Given the description of an element on the screen output the (x, y) to click on. 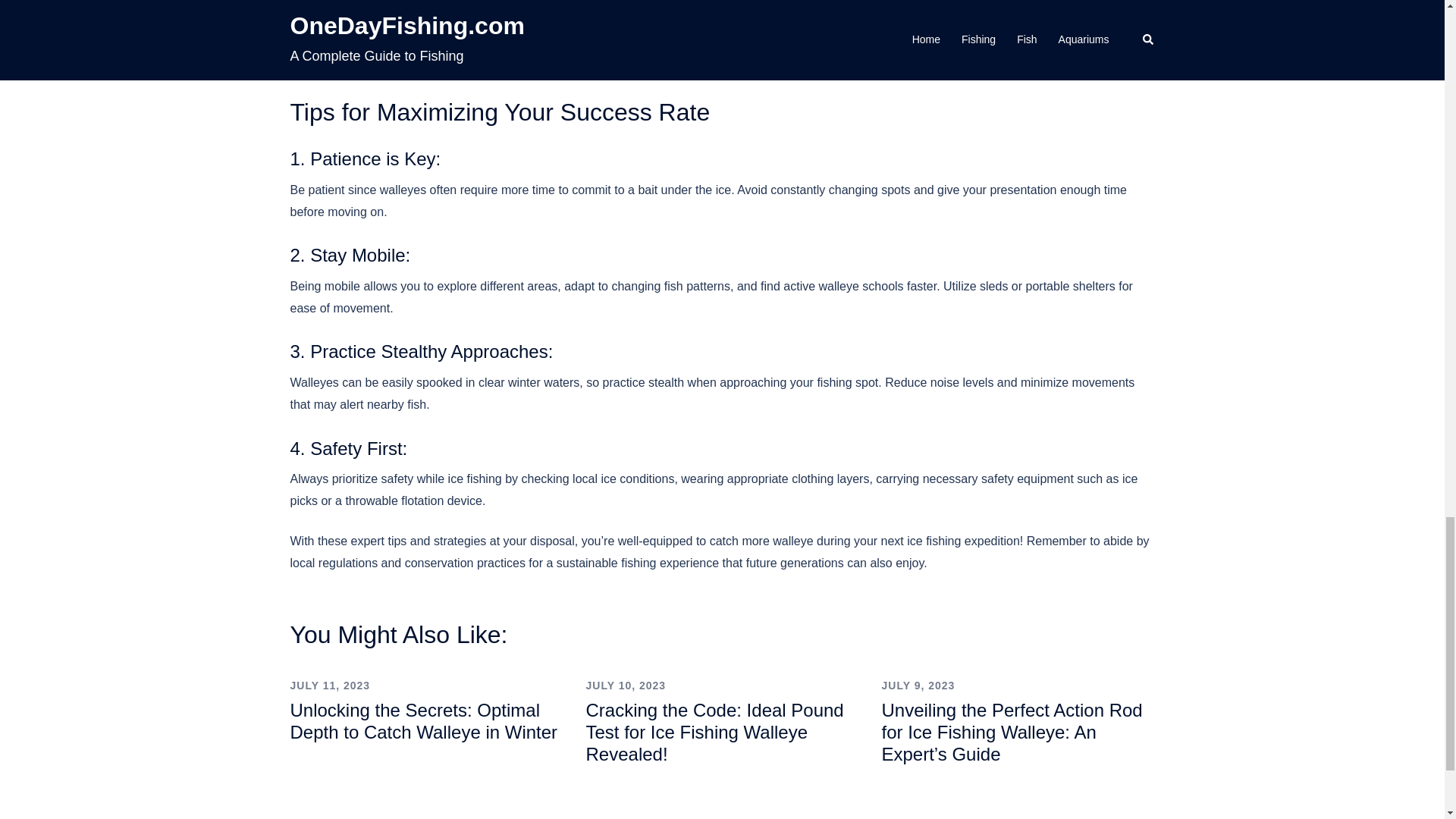
JULY 10, 2023 (625, 685)
JULY 9, 2023 (917, 685)
JULY 11, 2023 (329, 685)
